Given the description of an element on the screen output the (x, y) to click on. 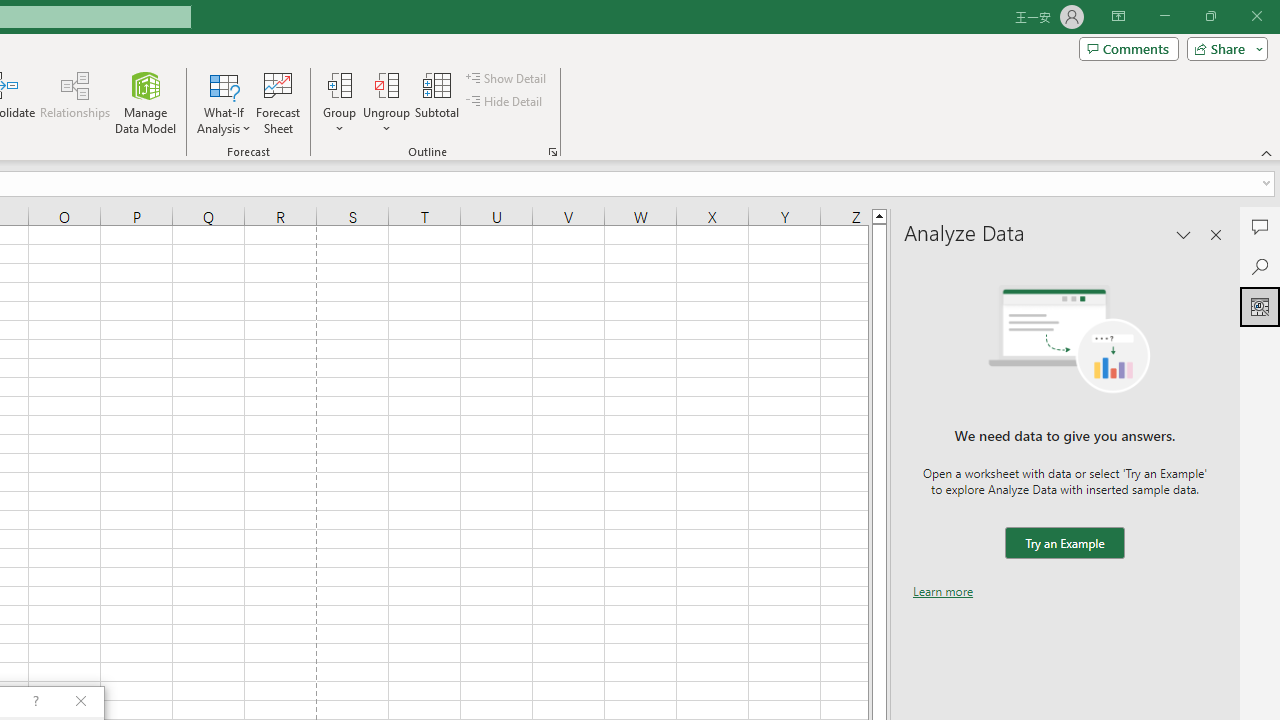
Learn more (943, 591)
Forecast Sheet (278, 102)
We need data to give you answers. Try an Example (1064, 543)
Analyze Data (1260, 306)
Hide Detail (505, 101)
Search (1260, 266)
Subtotal (437, 102)
